Given the description of an element on the screen output the (x, y) to click on. 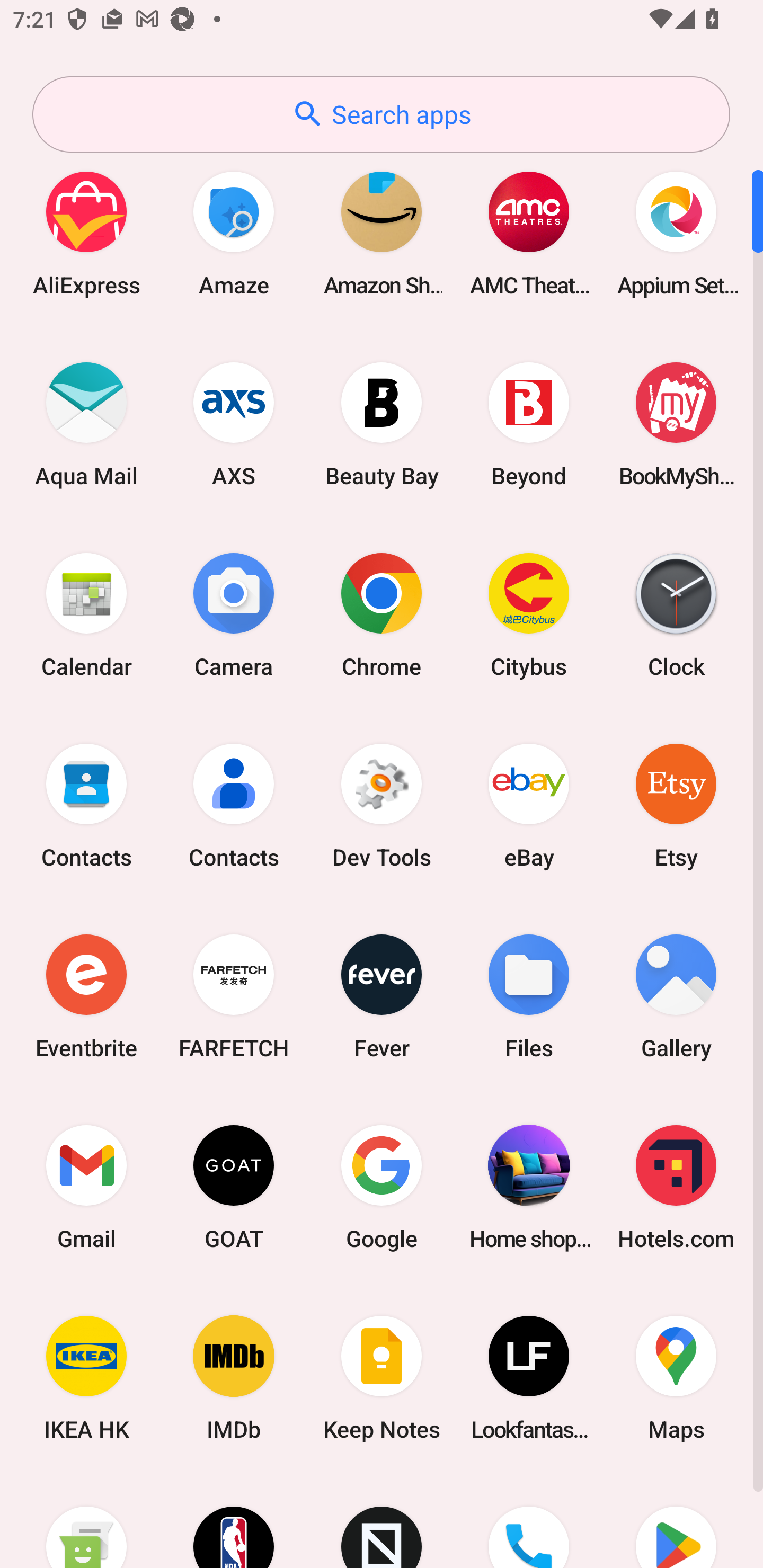
  Search apps (381, 114)
AliExpress (86, 233)
Amaze (233, 233)
Amazon Shopping (381, 233)
AMC Theatres (528, 233)
Appium Settings (676, 233)
Aqua Mail (86, 424)
AXS (233, 424)
Beauty Bay (381, 424)
Beyond (528, 424)
BookMyShow (676, 424)
Calendar (86, 614)
Camera (233, 614)
Chrome (381, 614)
Citybus (528, 614)
Clock (676, 614)
Contacts (86, 805)
Contacts (233, 805)
Dev Tools (381, 805)
eBay (528, 805)
Etsy (676, 805)
Eventbrite (86, 996)
FARFETCH (233, 996)
Fever (381, 996)
Files (528, 996)
Gallery (676, 996)
Gmail (86, 1186)
GOAT (233, 1186)
Google (381, 1186)
Home shopping (528, 1186)
Hotels.com (676, 1186)
IKEA HK (86, 1377)
IMDb (233, 1377)
Keep Notes (381, 1377)
Lookfantastic (528, 1377)
Maps (676, 1377)
Messaging (86, 1520)
NBA (233, 1520)
Novelship (381, 1520)
Phone (528, 1520)
Play Store (676, 1520)
